Given the description of an element on the screen output the (x, y) to click on. 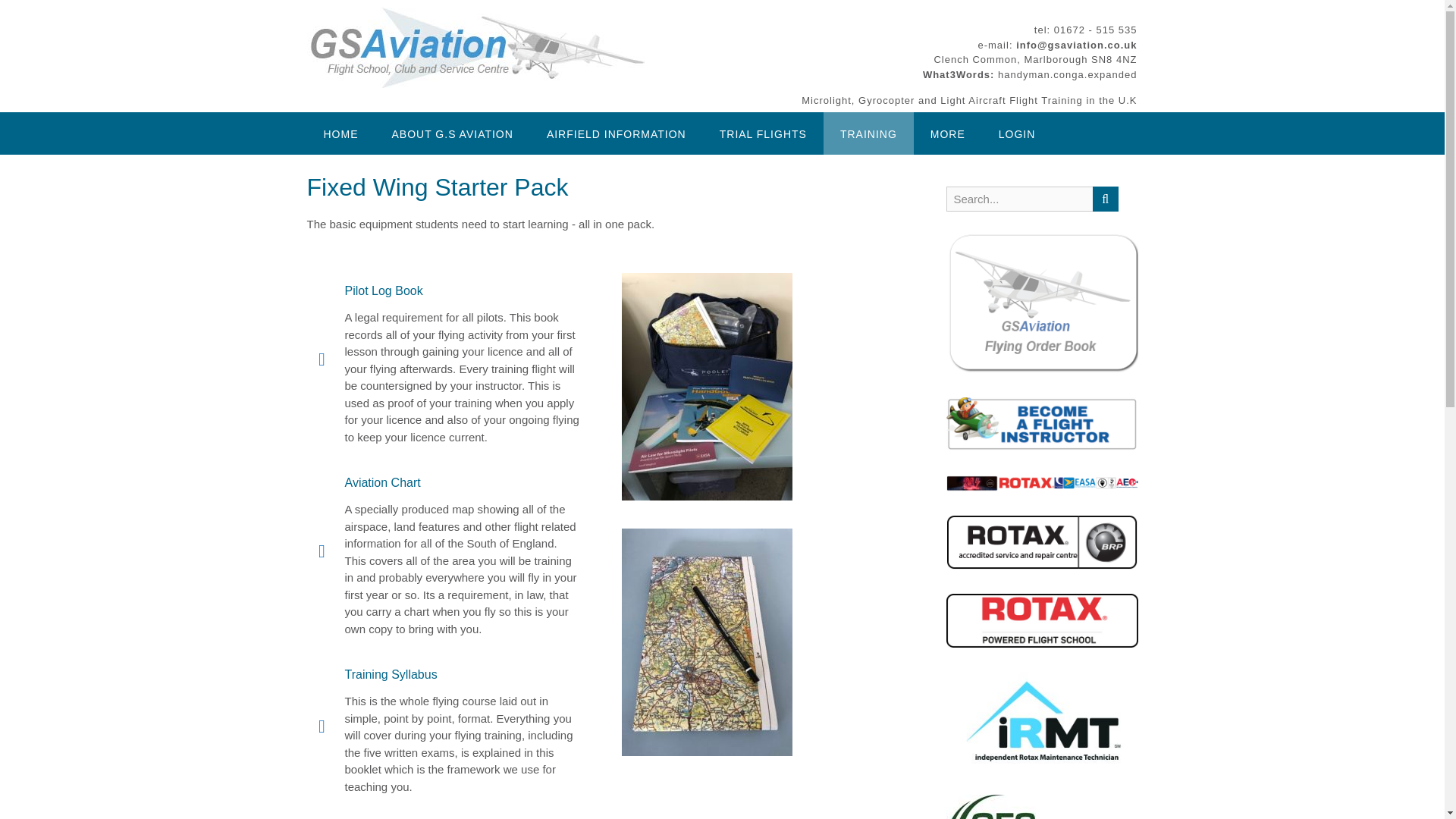
TRIAL FLIGHTS (763, 133)
handyman.conga.expanded (1067, 73)
Search for: (1019, 198)
ABOUT G.S AVIATION (451, 133)
HOME (339, 133)
TRAINING (869, 133)
AIRFIELD INFORMATION (616, 133)
GS Aviation (474, 47)
